Given the description of an element on the screen output the (x, y) to click on. 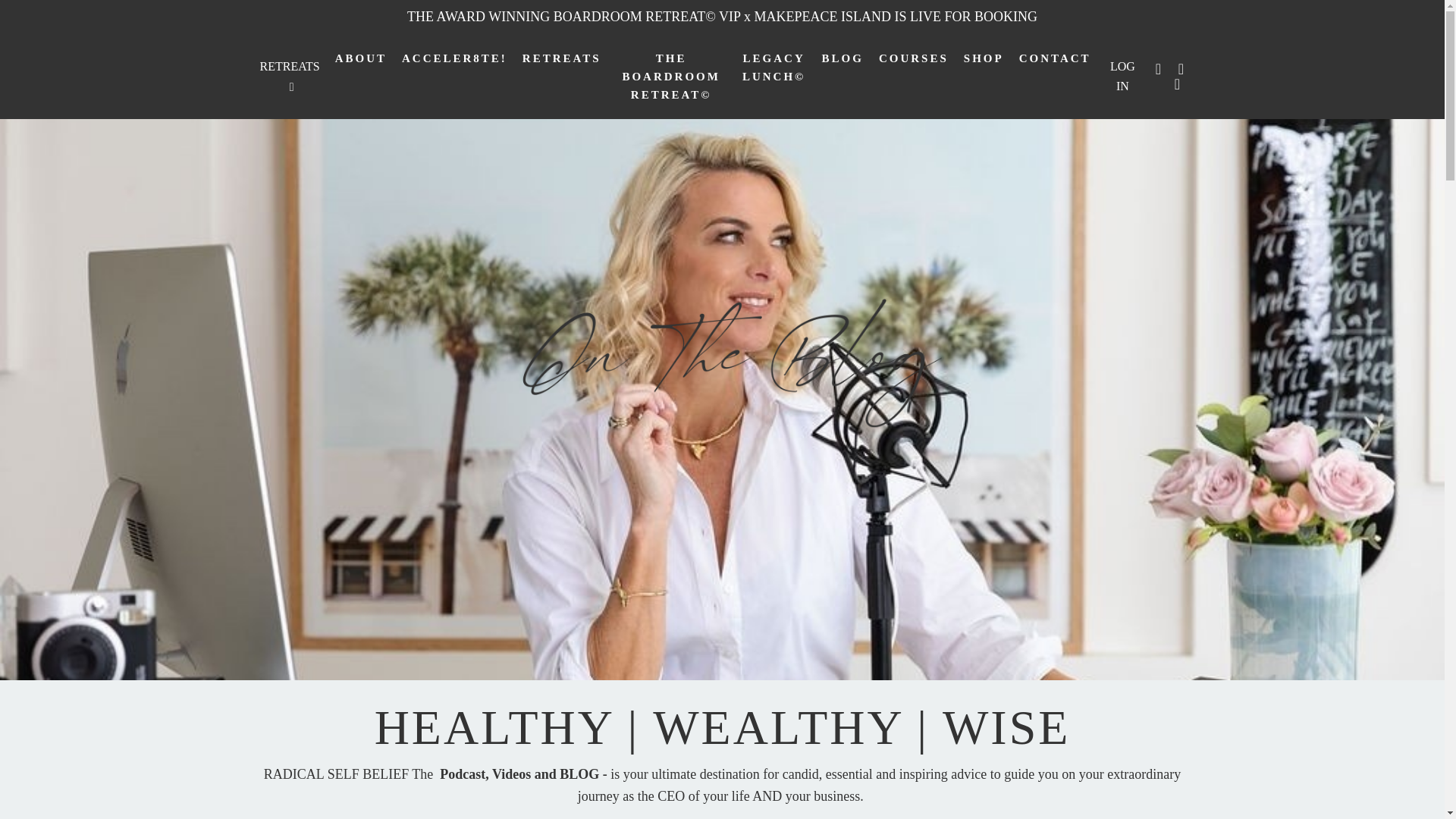
RETREATS (561, 76)
SHOP (983, 76)
LOG IN (1122, 75)
RETREATS (288, 75)
CONTACT (1054, 76)
BLOG (842, 76)
COURSES (914, 76)
ABOUT (360, 76)
ACCELER8TE! (453, 76)
